Given the description of an element on the screen output the (x, y) to click on. 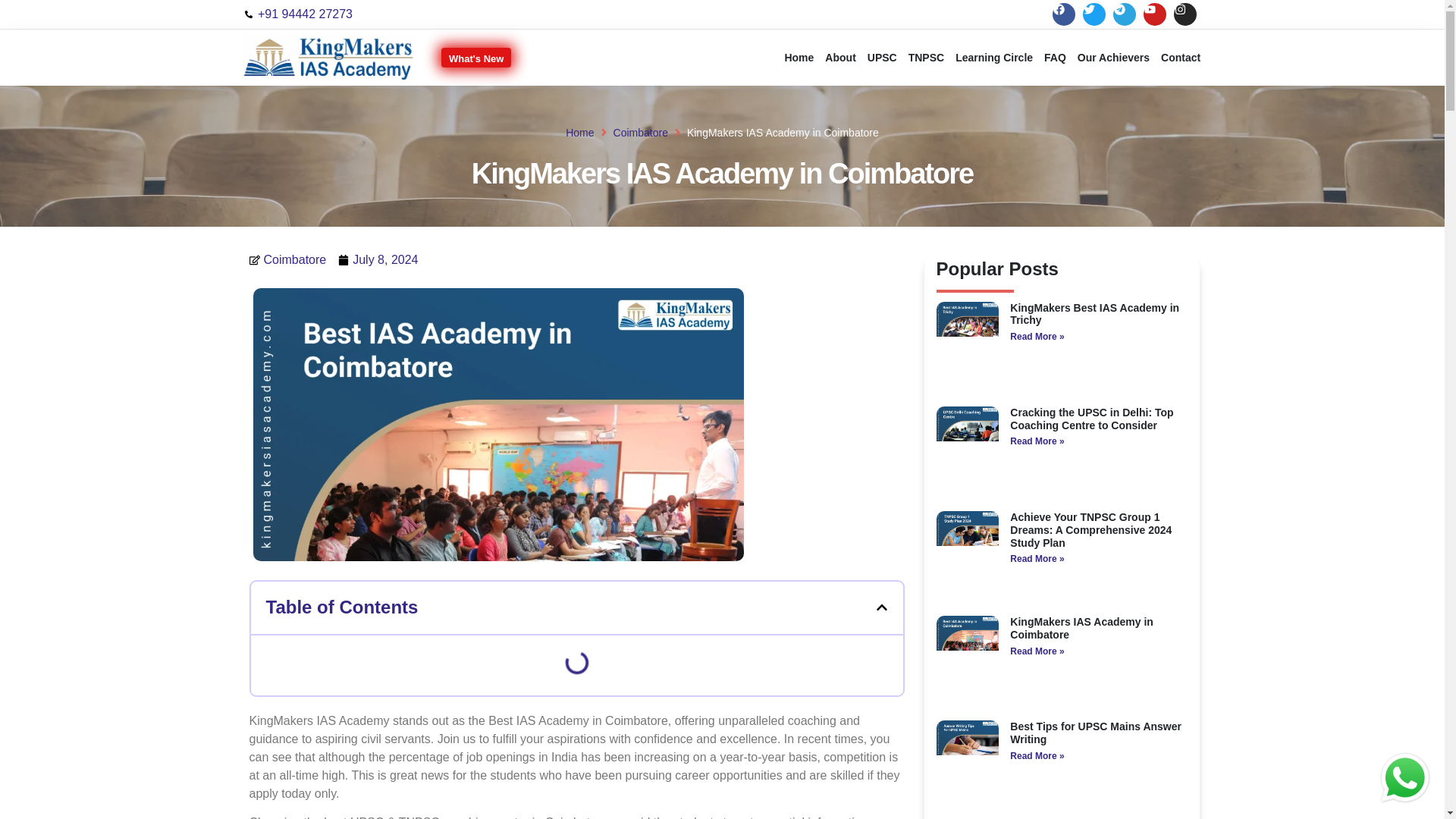
TNPSC (925, 58)
Coimbatore (640, 132)
About (840, 58)
Home (580, 132)
UPSC (882, 58)
What'S New (476, 57)
Home (798, 58)
Learning Circle (994, 58)
Contact (1180, 58)
Our Achievers (1113, 58)
